Given the description of an element on the screen output the (x, y) to click on. 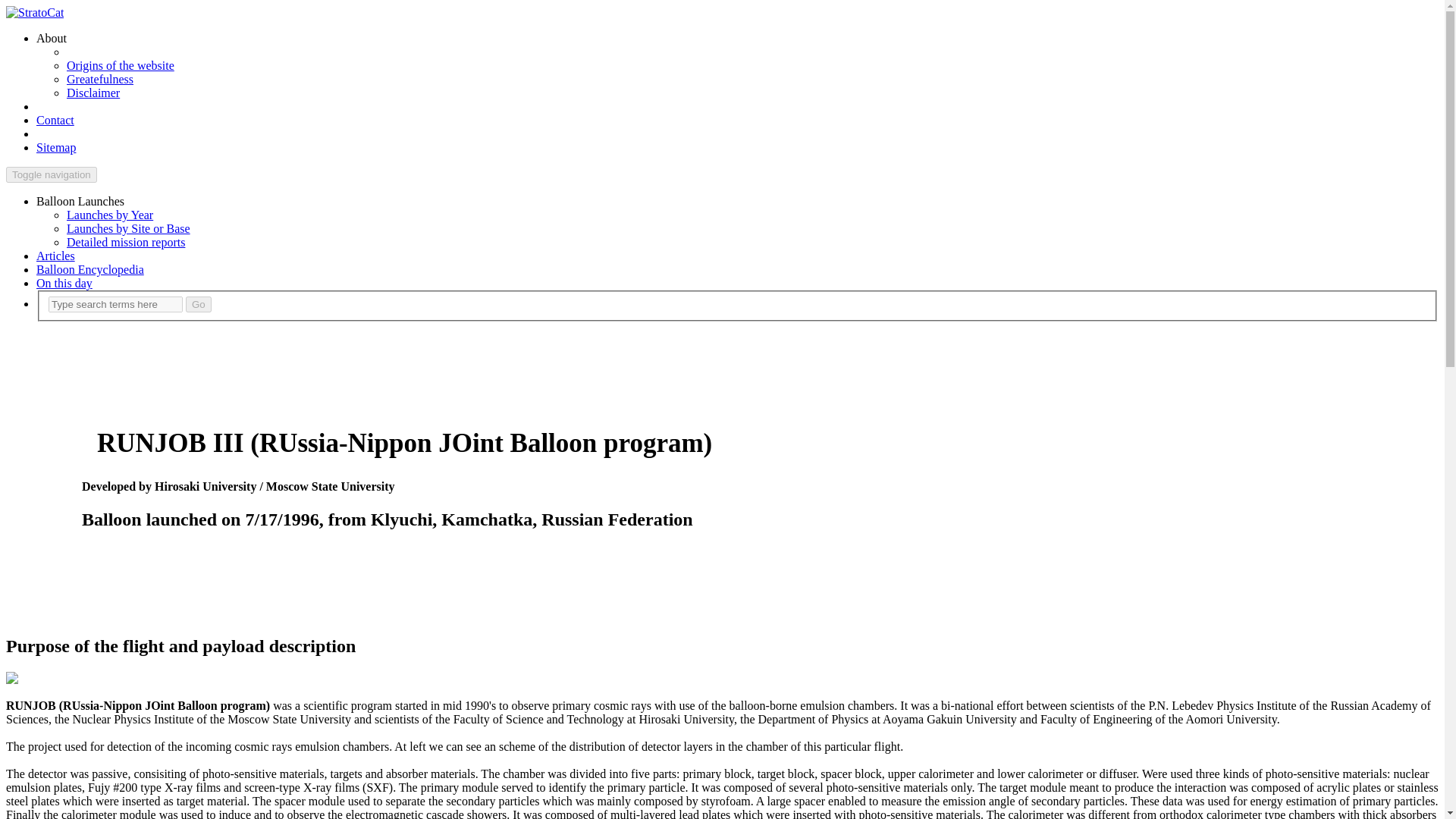
Launches by Site or Base (128, 228)
Disclaimer (92, 92)
Launches by Year (109, 214)
About (51, 38)
Balloon Encyclopedia (90, 269)
Greatefulness (99, 78)
Origins of the website (120, 65)
Detailed mission reports (125, 241)
On this day (64, 282)
Go (198, 304)
Sitemap (55, 146)
Toggle navigation (51, 174)
Balloon Launches (79, 201)
Contact (55, 119)
Articles (55, 255)
